Given the description of an element on the screen output the (x, y) to click on. 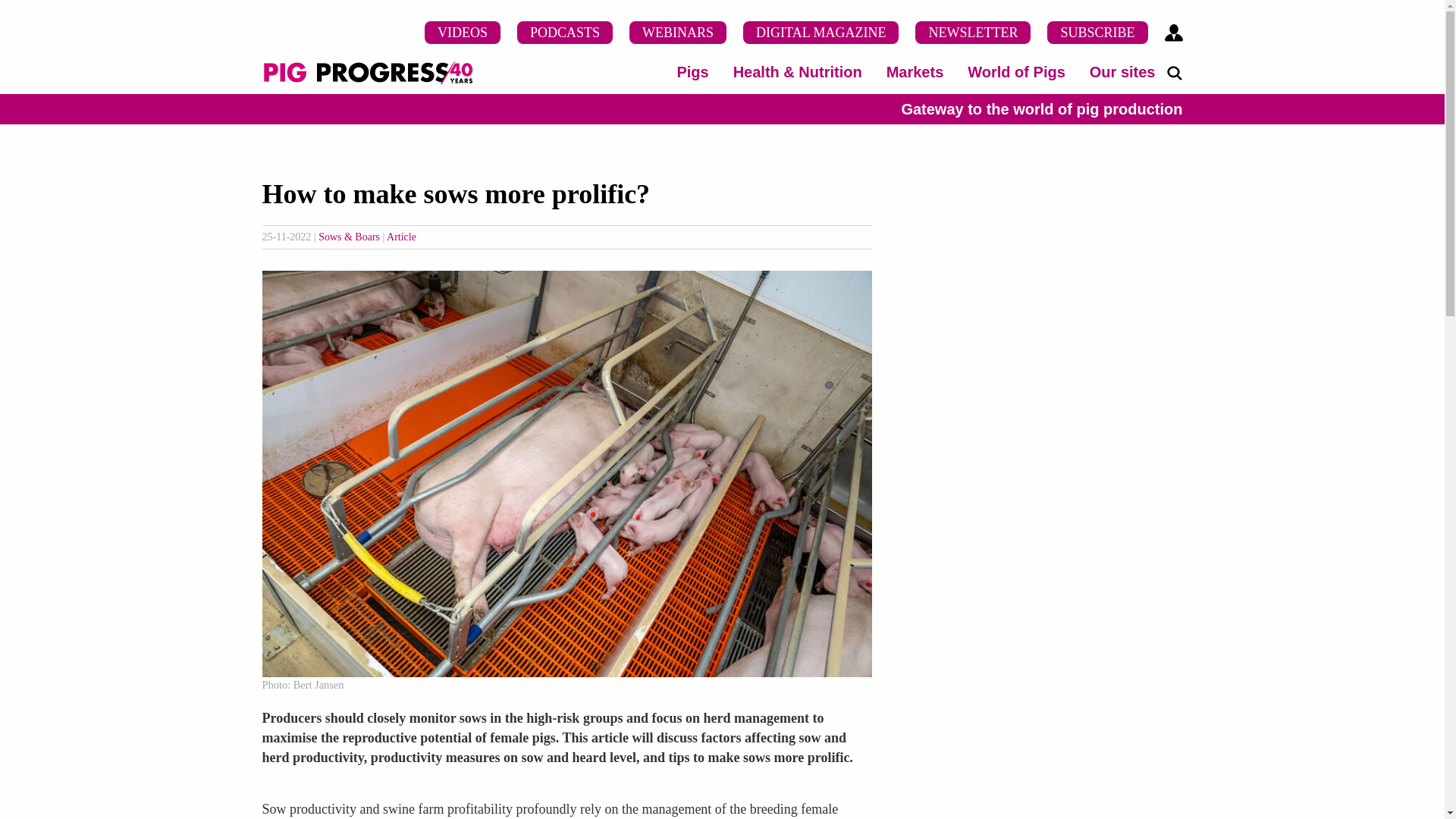
NEWSLETTER (972, 32)
SUBSCRIBE (1096, 32)
PODCASTS (564, 32)
WEBINARS (677, 32)
Pigs (691, 71)
VIDEOS (462, 32)
DIGITAL MAGAZINE (820, 32)
